Given the description of an element on the screen output the (x, y) to click on. 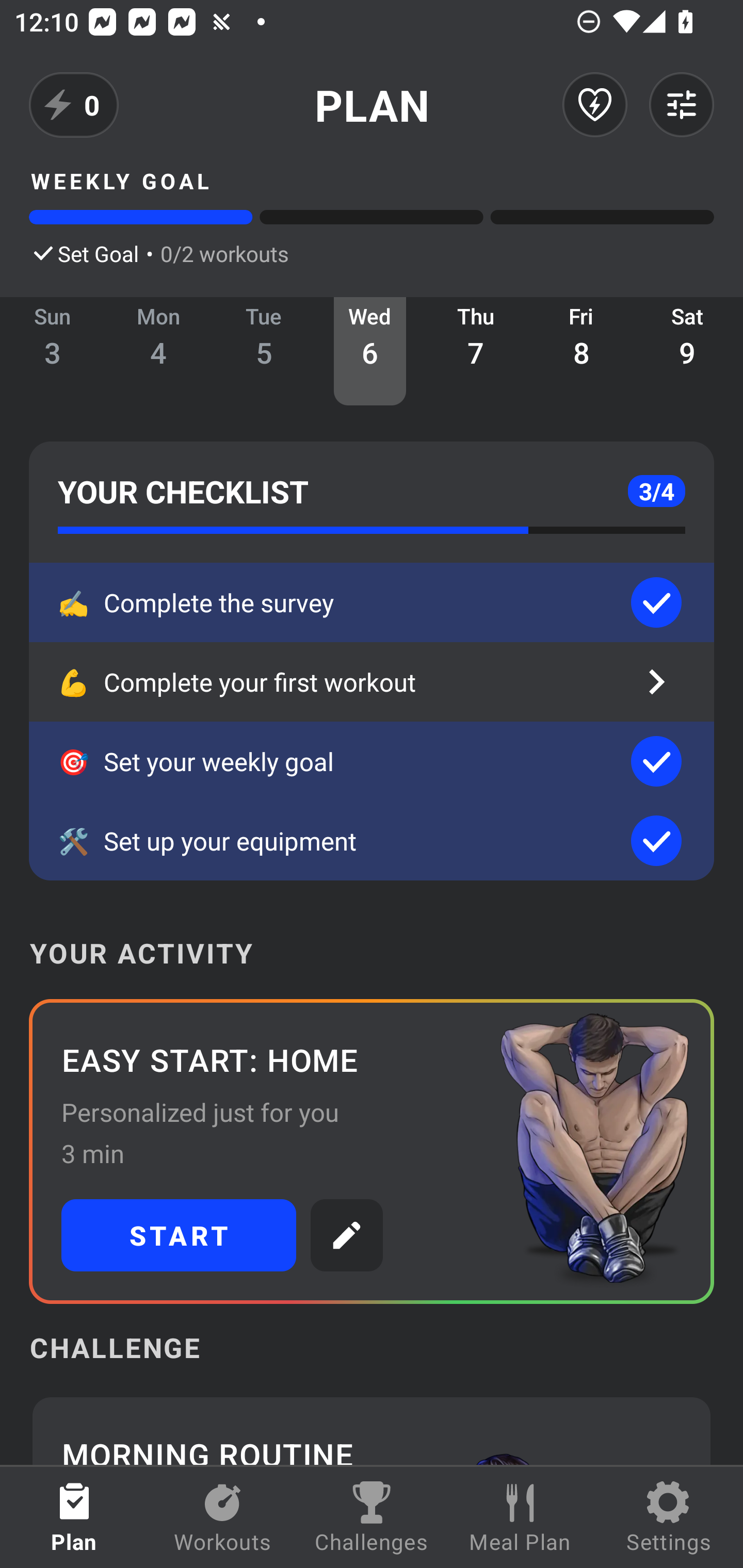
0 (73, 104)
Sun 3 (52, 351)
Mon 4 (158, 351)
Tue 5 (264, 351)
Wed 6 (369, 351)
Thu 7 (475, 351)
Fri 8 (581, 351)
Sat 9 (687, 351)
💪 Complete your first workout (371, 681)
START (178, 1235)
 Workouts  (222, 1517)
 Challenges  (371, 1517)
 Meal Plan  (519, 1517)
 Settings  (668, 1517)
